Given the description of an element on the screen output the (x, y) to click on. 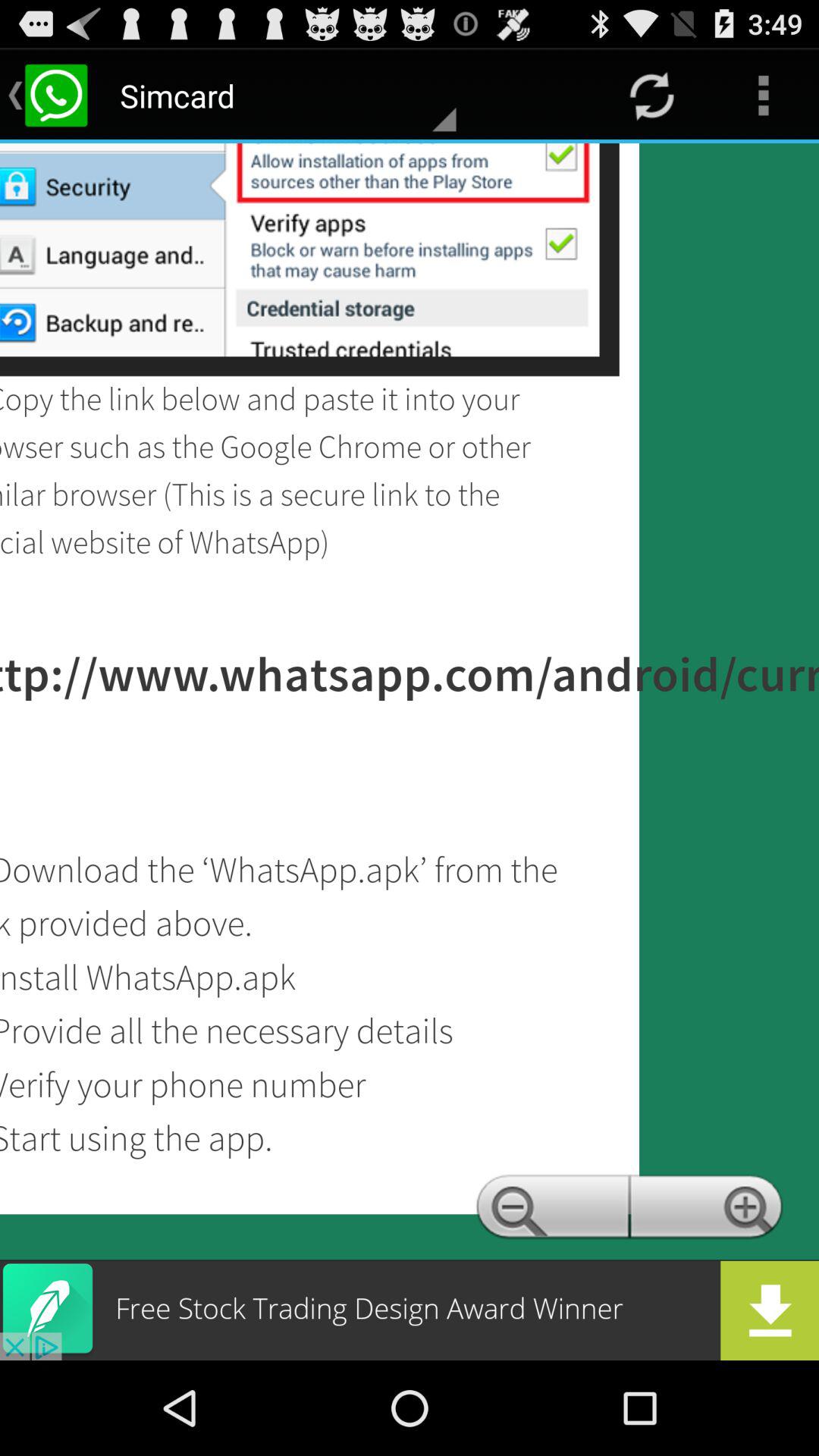
advertising (409, 1310)
